Given the description of an element on the screen output the (x, y) to click on. 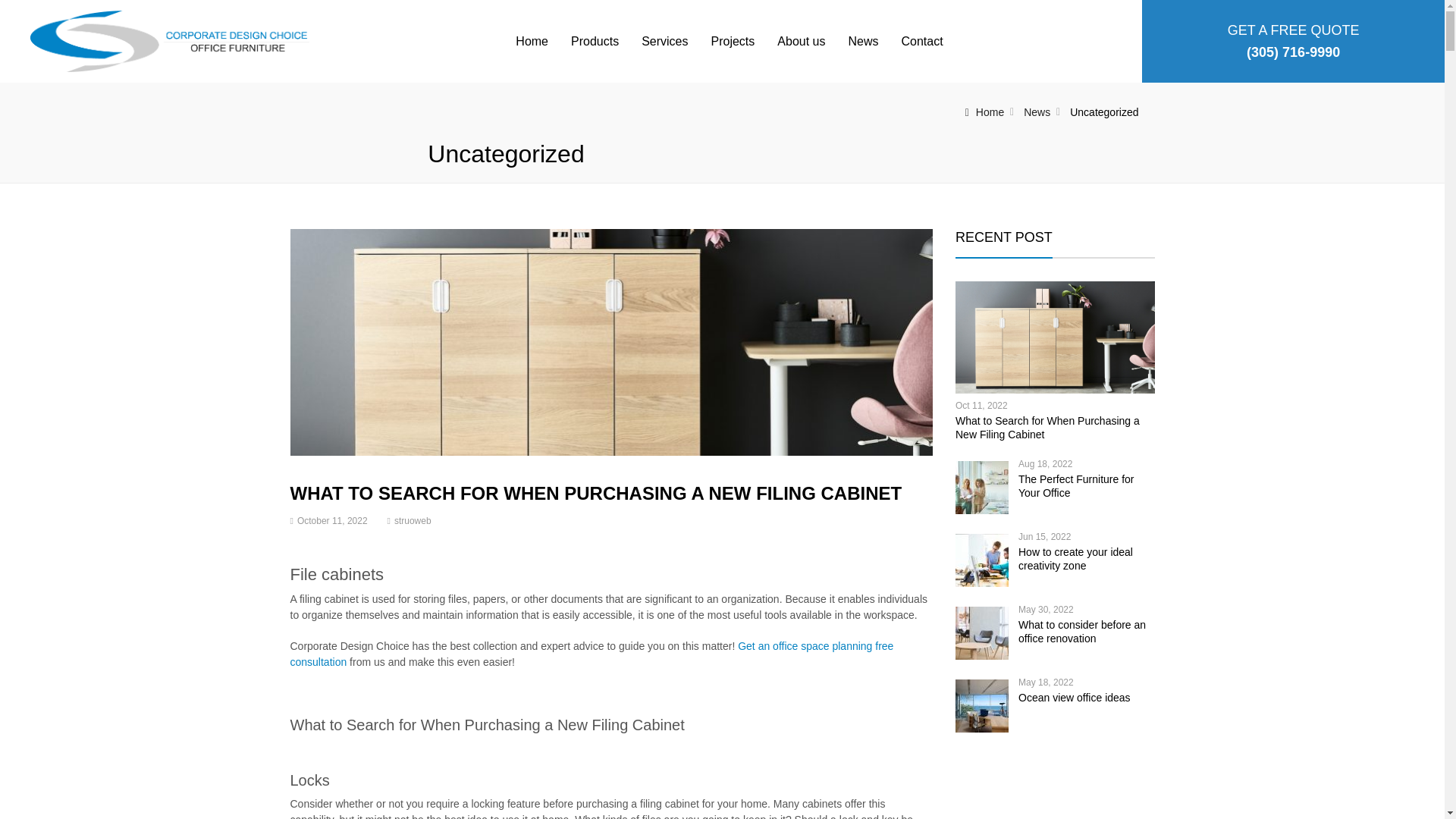
Home (531, 41)
October 11, 2022 (332, 520)
Contact (921, 41)
About us (800, 41)
struoweb (412, 520)
Products (594, 41)
Services (664, 41)
WHAT TO SEARCH FOR WHEN PURCHASING A NEW FILING CABINET (595, 493)
News (862, 41)
Projects (733, 41)
Home (984, 111)
News (1036, 111)
Get an office space planning free consultation (591, 653)
